Given the description of an element on the screen output the (x, y) to click on. 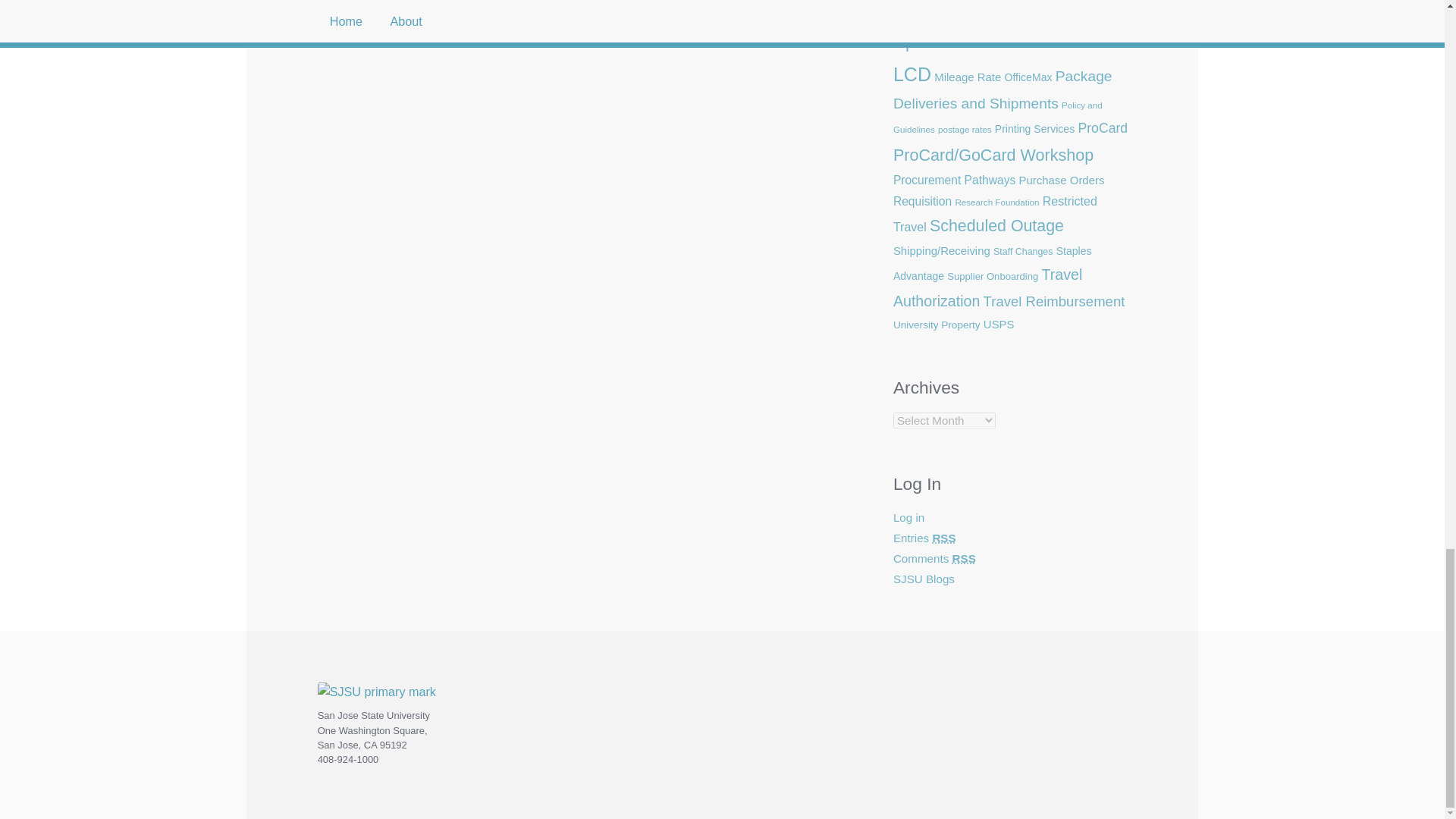
The latest comments to all posts in RSS (934, 558)
Subscribe me! (1027, 208)
Powered by SJSU Blogs (924, 578)
Really Simple Syndication (943, 537)
Syndicate this site using RSS 2.0 (924, 537)
Really Simple Syndication (963, 558)
